Given the description of an element on the screen output the (x, y) to click on. 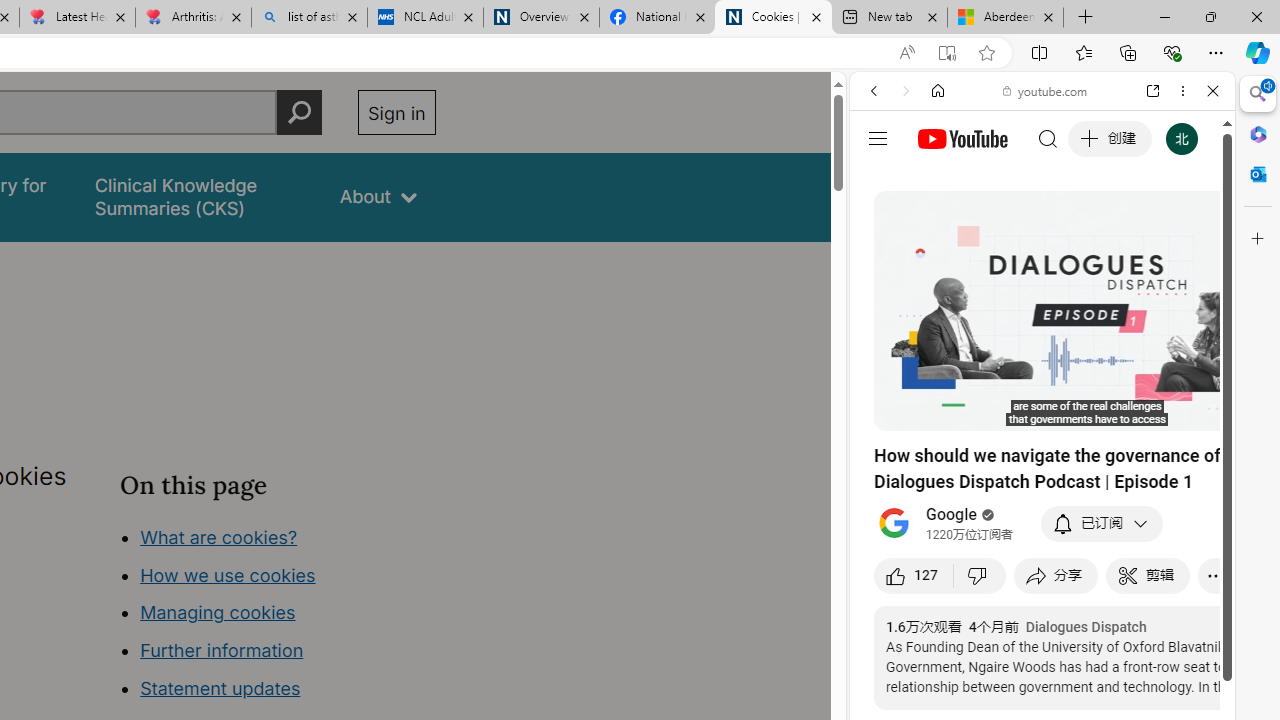
Music (1042, 543)
How we use cookies (227, 574)
youtube.com (1046, 90)
Class: in-page-nav__list (277, 615)
